Given the description of an element on the screen output the (x, y) to click on. 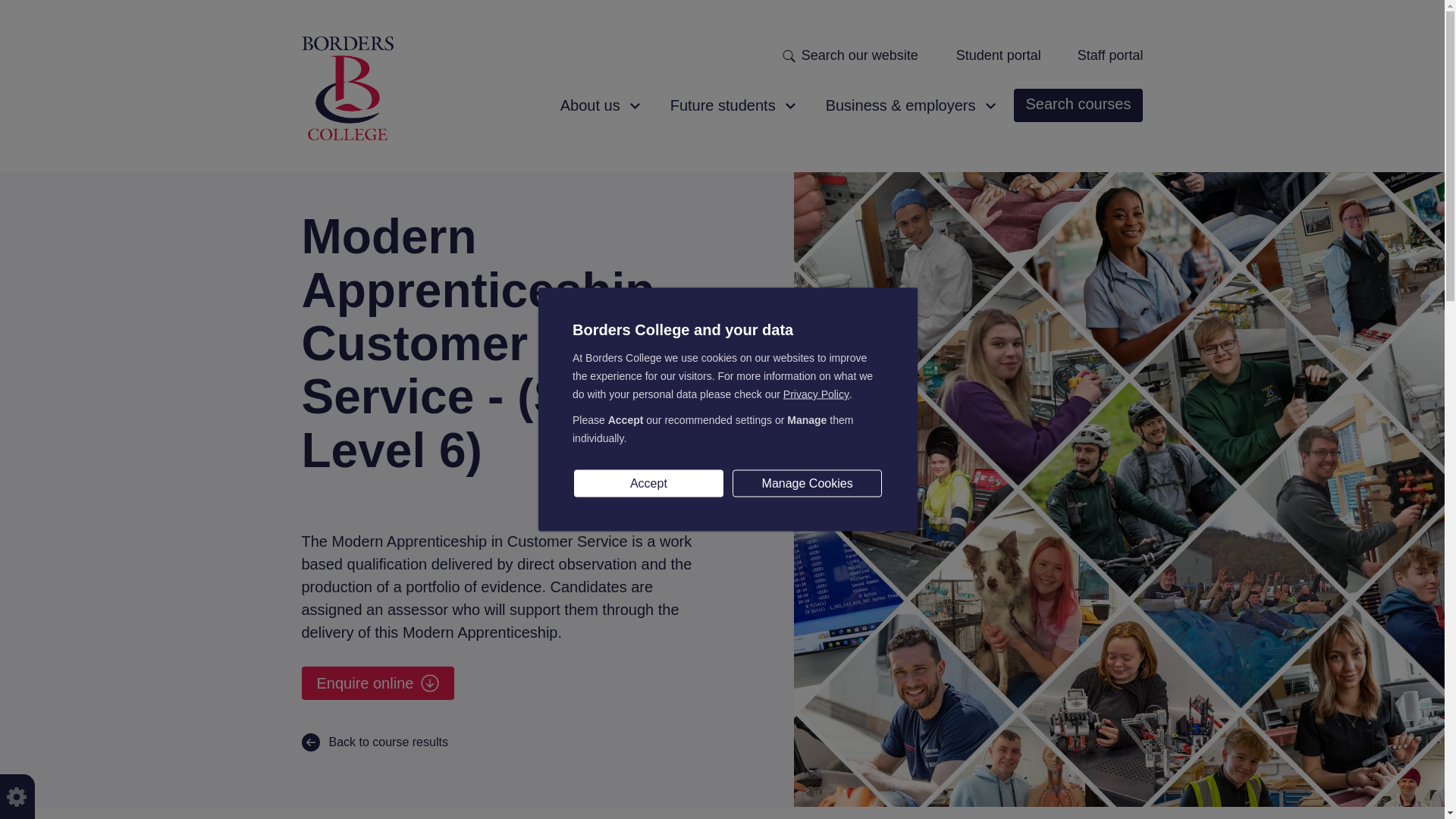
Search courses (1077, 105)
Back to course results (374, 741)
Staff portal (1109, 56)
Enquire online (377, 683)
Cookie Control (16, 795)
Student portal (998, 56)
Enter the terms you wish to search for. (865, 55)
Borders Privacy Policy (815, 394)
